Given the description of an element on the screen output the (x, y) to click on. 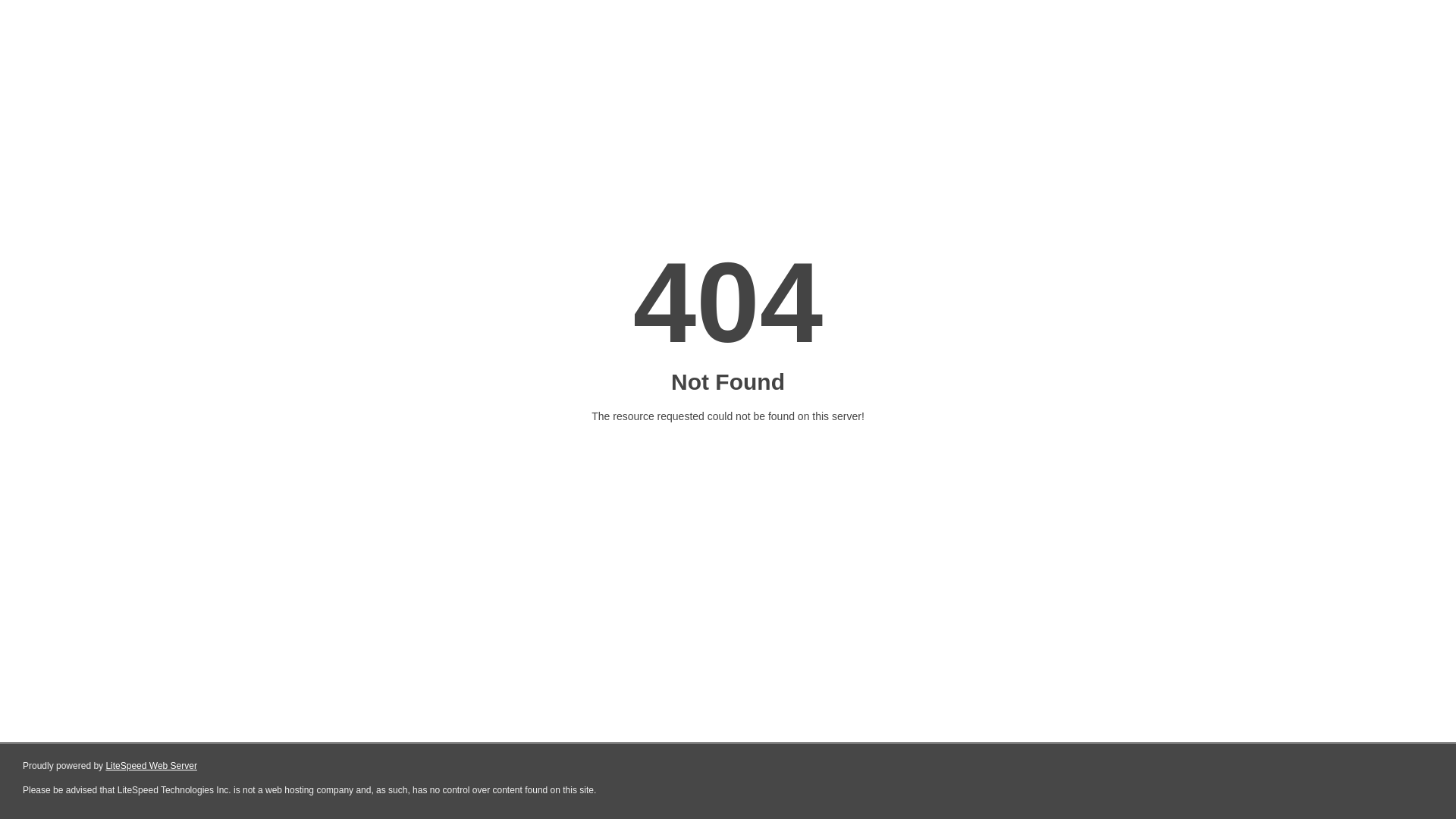
LiteSpeed Web Server Element type: text (151, 765)
